Given the description of an element on the screen output the (x, y) to click on. 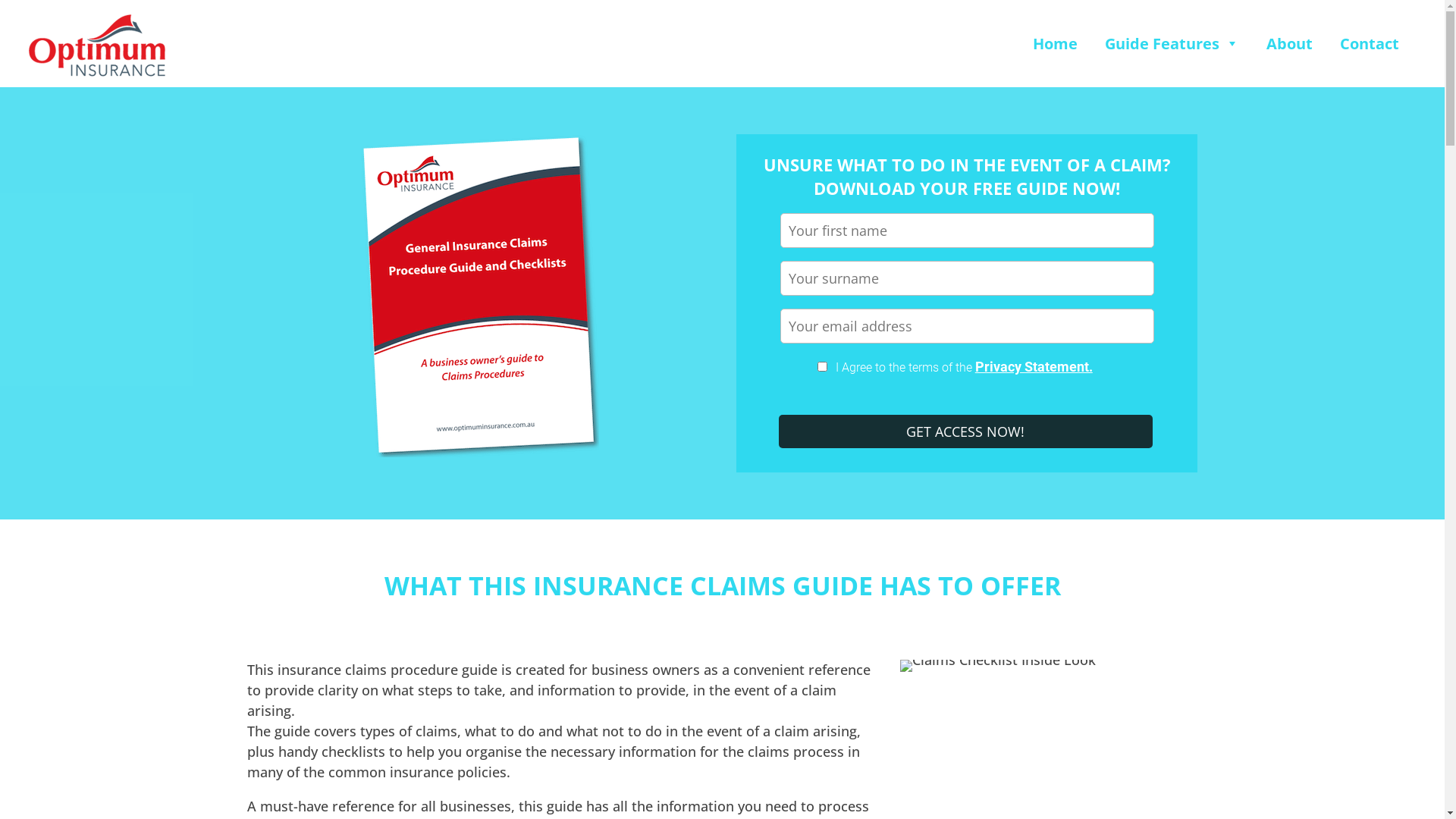
Contact Element type: text (1369, 43)
Privacy Statement. Element type: text (1033, 366)
GET ACCESS NOW! Element type: text (965, 431)
Guide Features Element type: text (1171, 43)
About Element type: text (1289, 43)
Home Element type: text (1054, 43)
Submit Element type: hover (965, 431)
